Given the description of an element on the screen output the (x, y) to click on. 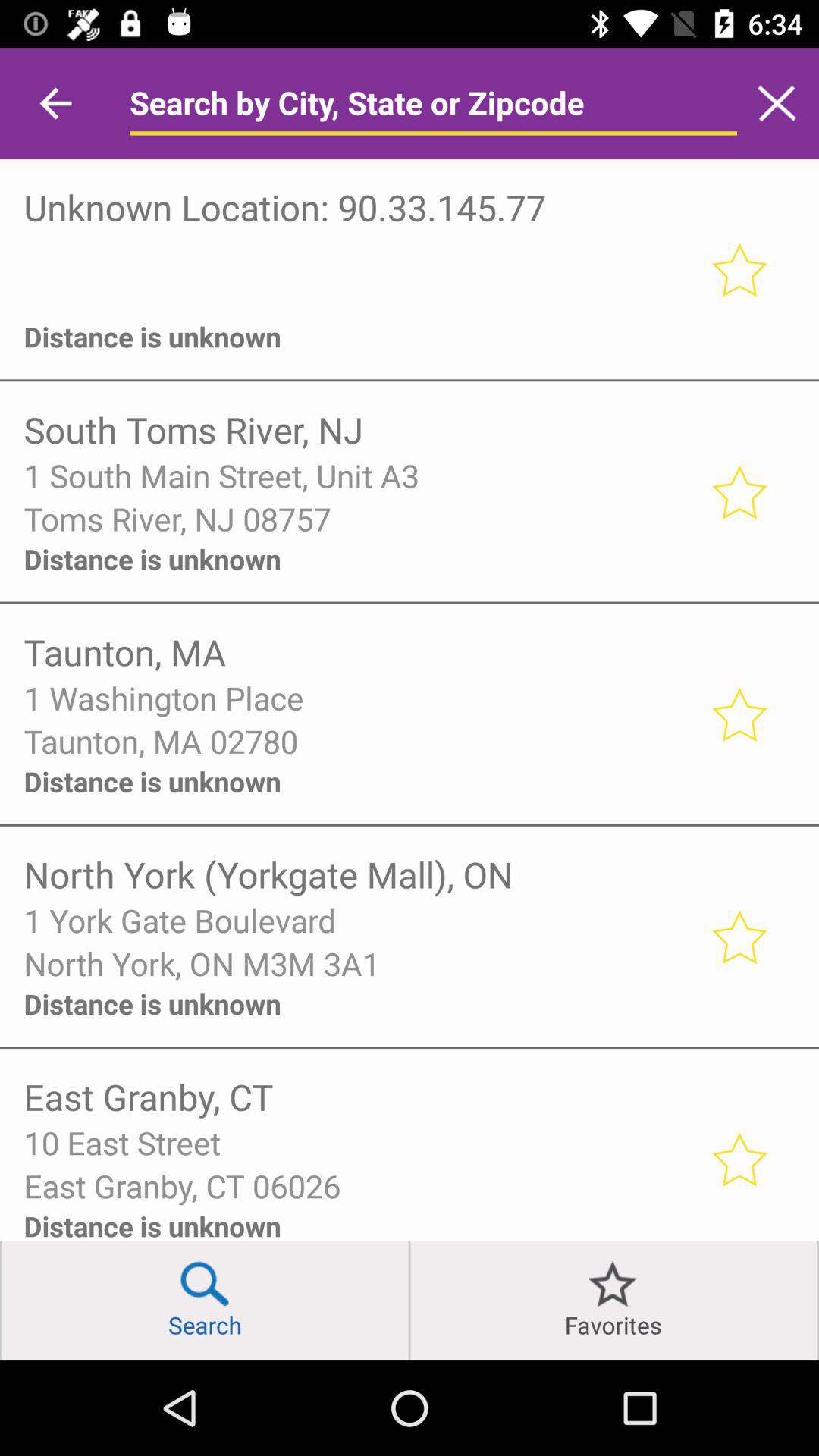
press the item to the left of the search icon (1, 1300)
